Given the description of an element on the screen output the (x, y) to click on. 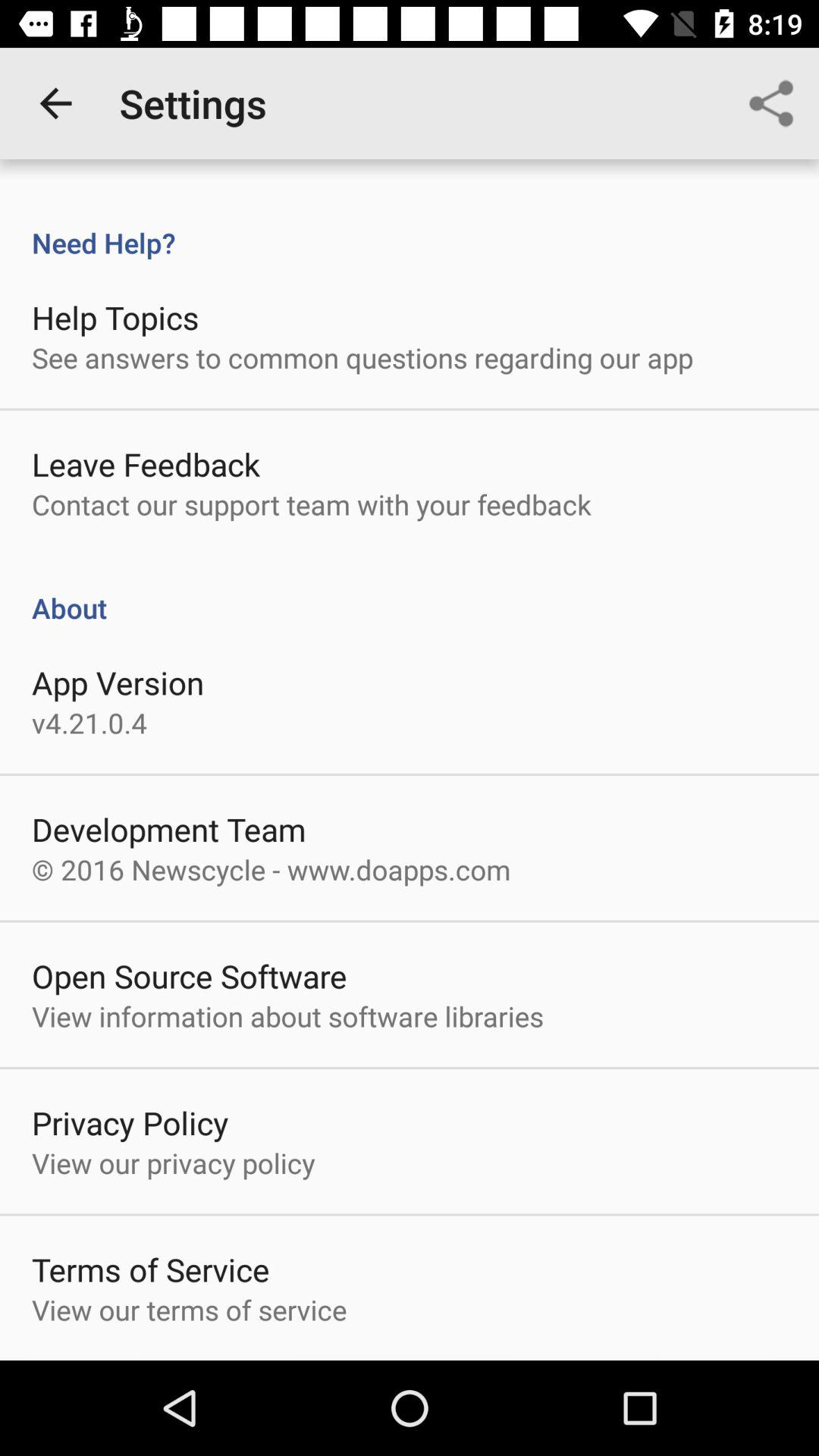
launch app next to settings (55, 103)
